Given the description of an element on the screen output the (x, y) to click on. 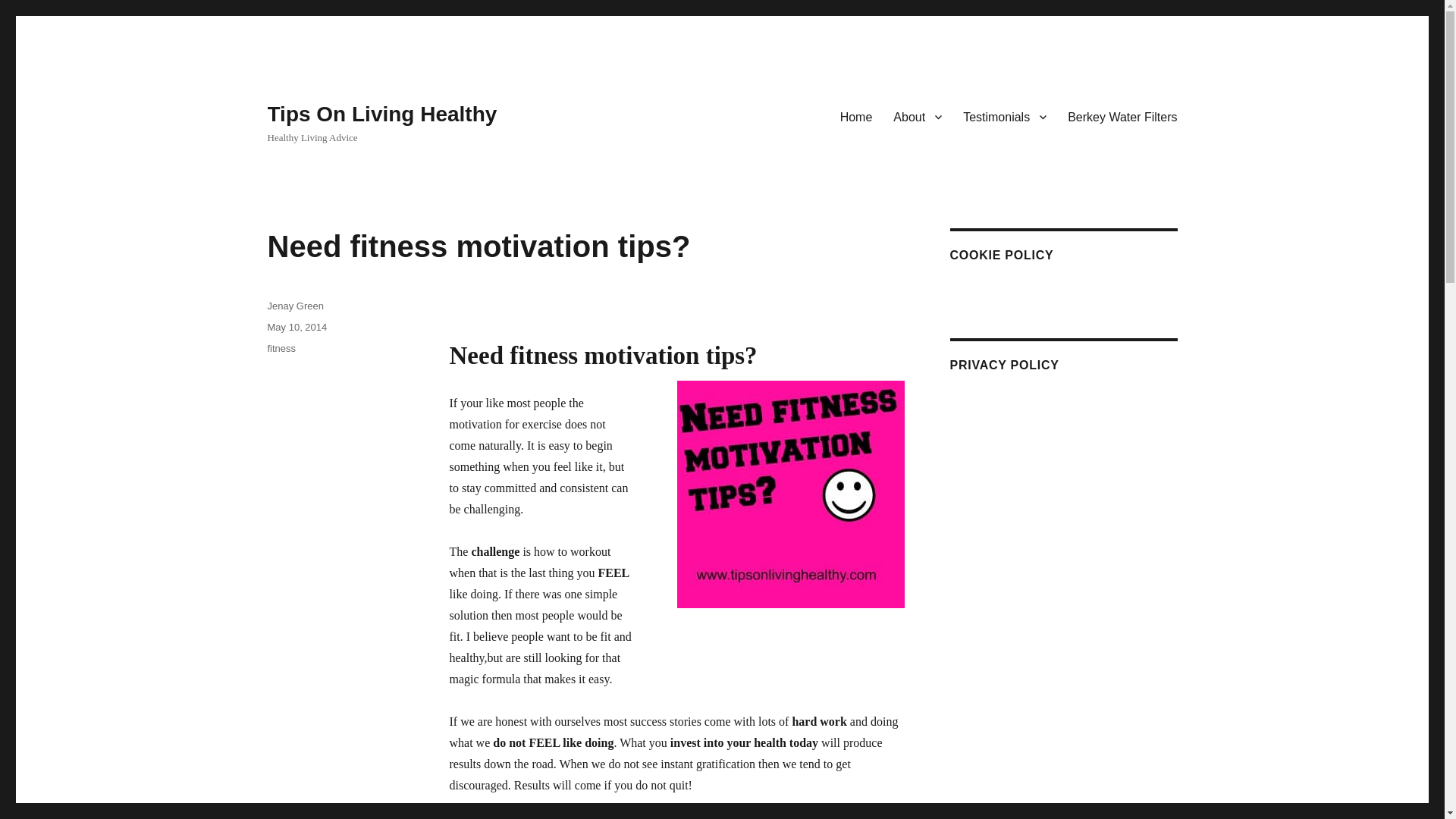
Home (856, 116)
Jenay Green (294, 306)
Tips On Living Healthy (381, 114)
Testimonials (1004, 116)
Cookie Policy (984, 287)
Berkey Water Filters (1122, 116)
May 10, 2014 (296, 326)
fitness (280, 348)
Privacy Policy (992, 397)
About (917, 116)
